Given the description of an element on the screen output the (x, y) to click on. 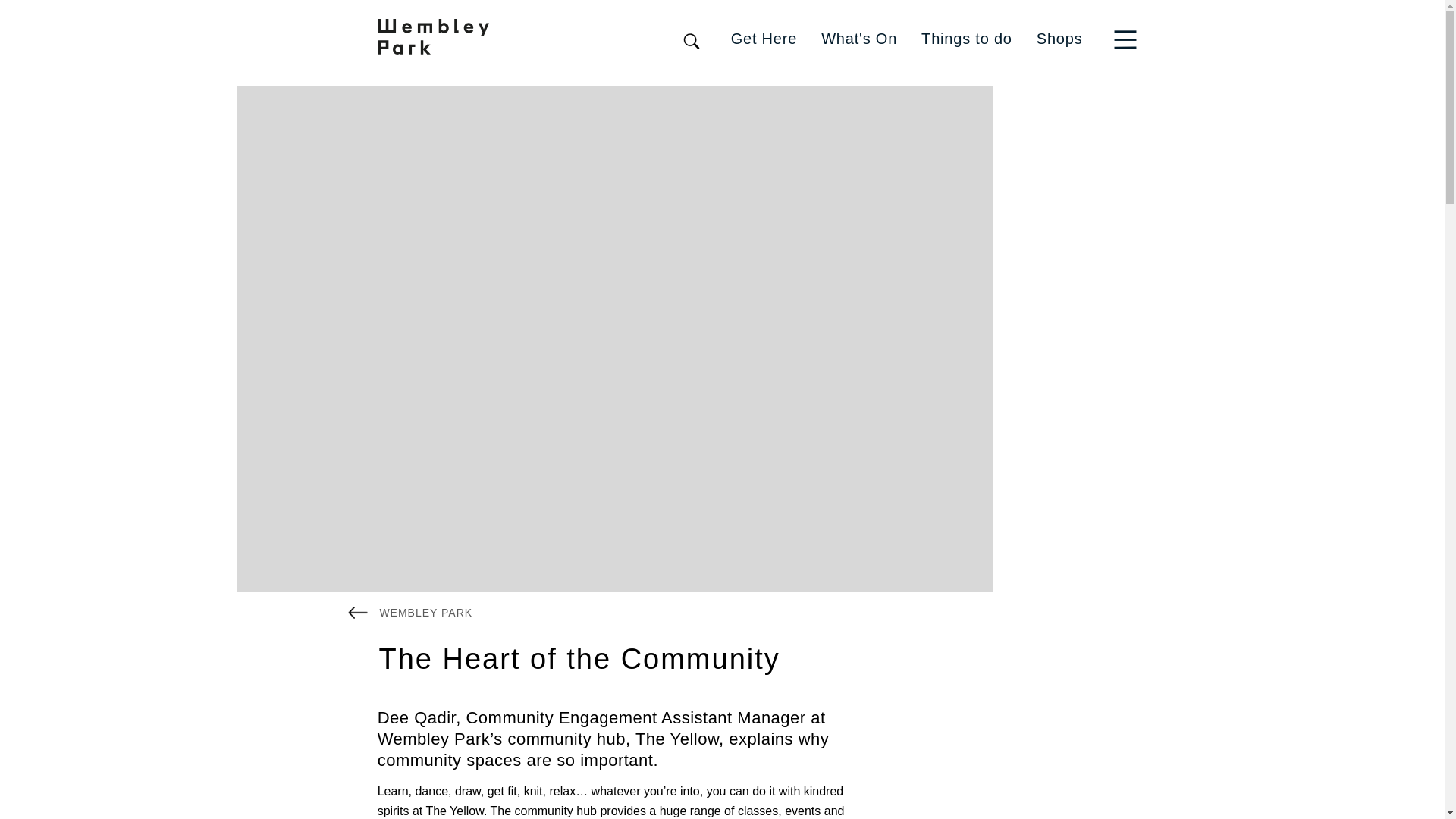
WEMBLEY PARK (409, 611)
What's On (858, 38)
Slice 1 Created with Sketch. (1128, 37)
Get Here (763, 38)
Slice 1 Created with Sketch. (1125, 39)
Things to do (966, 38)
Shops (1059, 38)
